Given the description of an element on the screen output the (x, y) to click on. 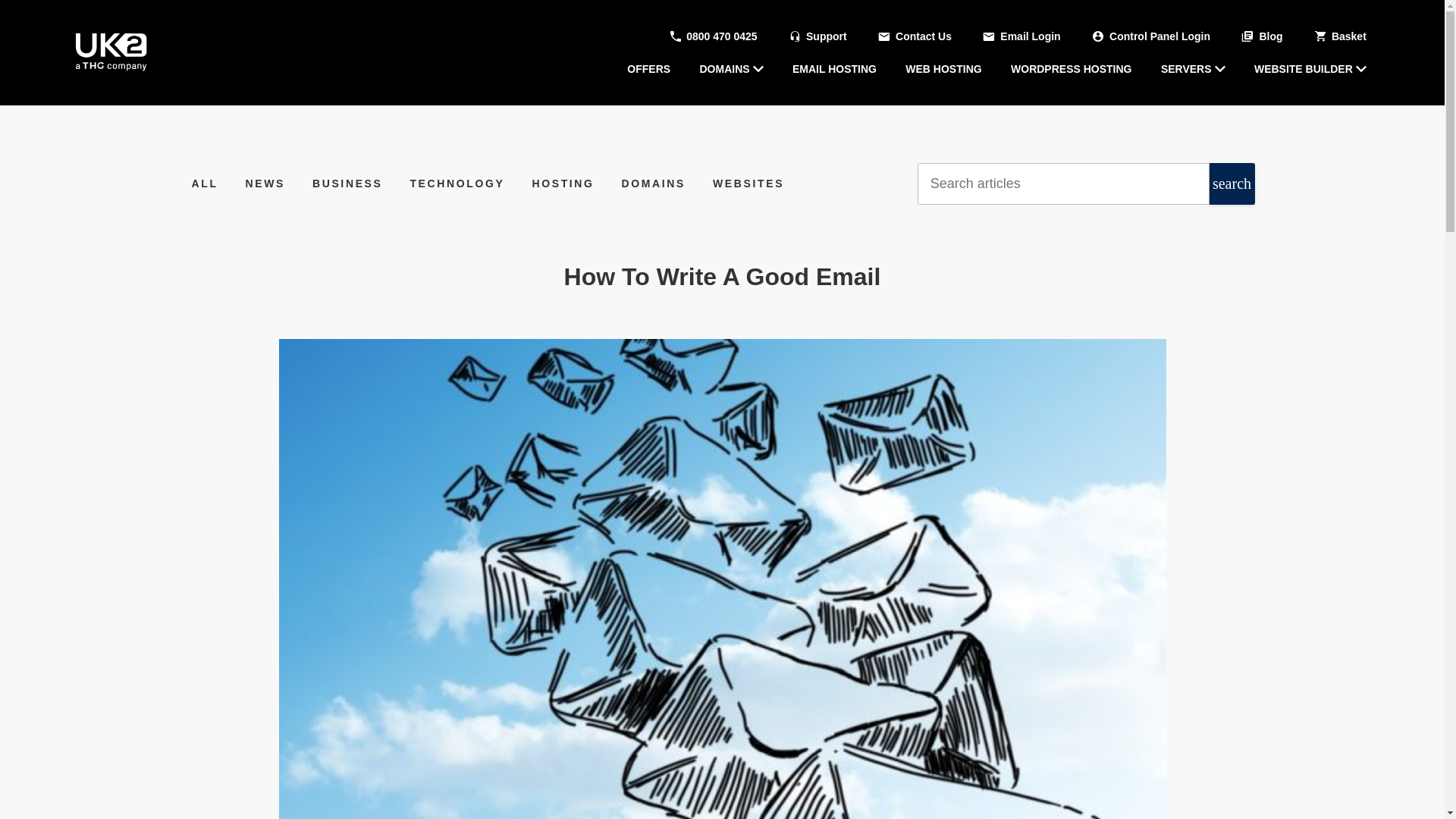
The UK2 Blog (111, 52)
0800 470 0425 (711, 35)
Basket (1339, 35)
search (1230, 183)
EMAIL HOSTING (834, 68)
Email Login (1019, 35)
Contact Us (914, 35)
DOMAINS (730, 68)
WEB HOSTING (943, 68)
Blog (1260, 35)
Support (816, 35)
Control Panel Login (1149, 35)
search (1230, 183)
OFFERS (648, 68)
